Given the description of an element on the screen output the (x, y) to click on. 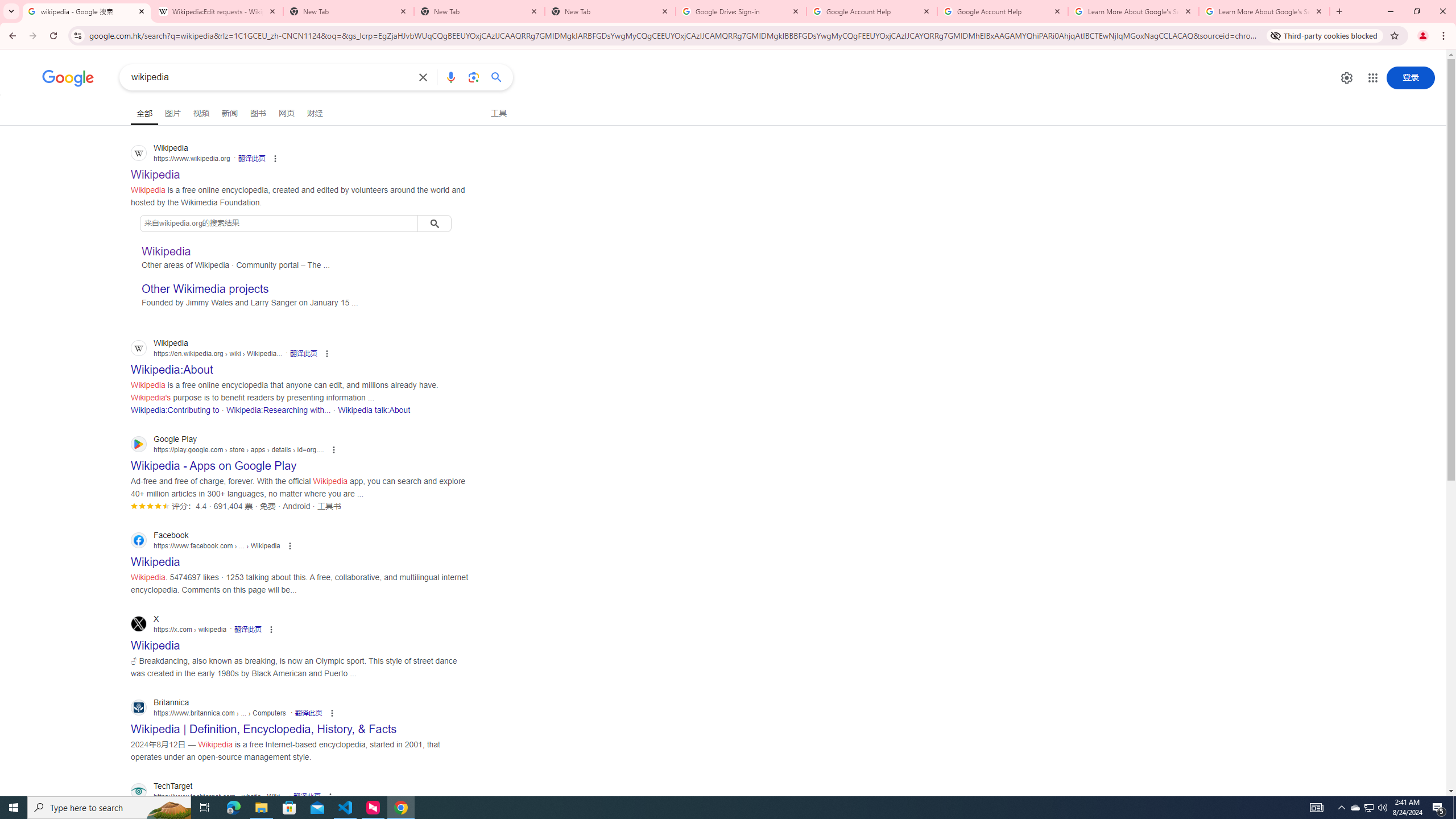
Wikipedia talk:About (373, 410)
New Tab (610, 11)
